Given the description of an element on the screen output the (x, y) to click on. 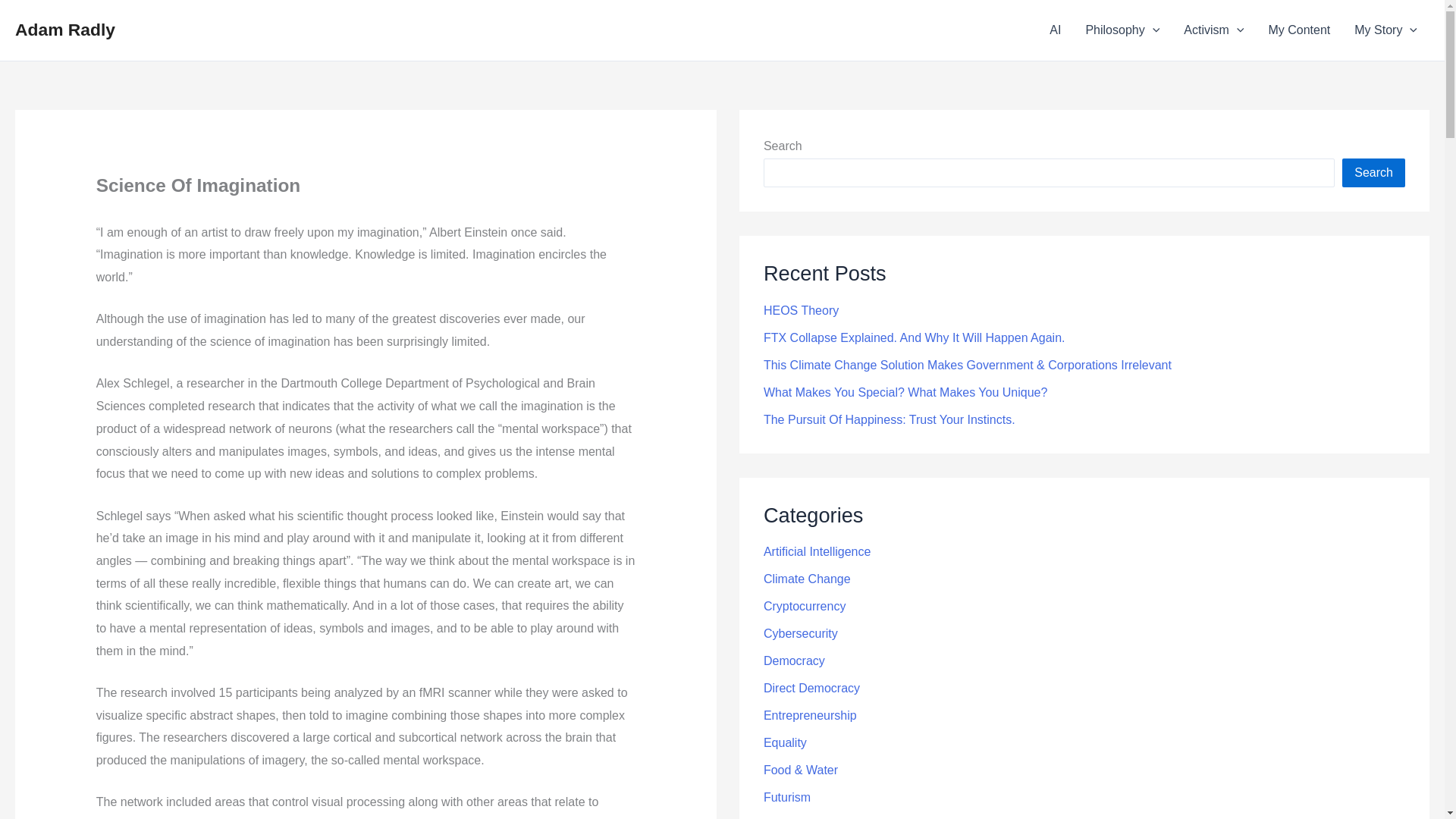
My Content (1298, 30)
Adam Radly (64, 29)
My Story (1385, 30)
Philosophy (1122, 30)
Activism (1213, 30)
